Given the description of an element on the screen output the (x, y) to click on. 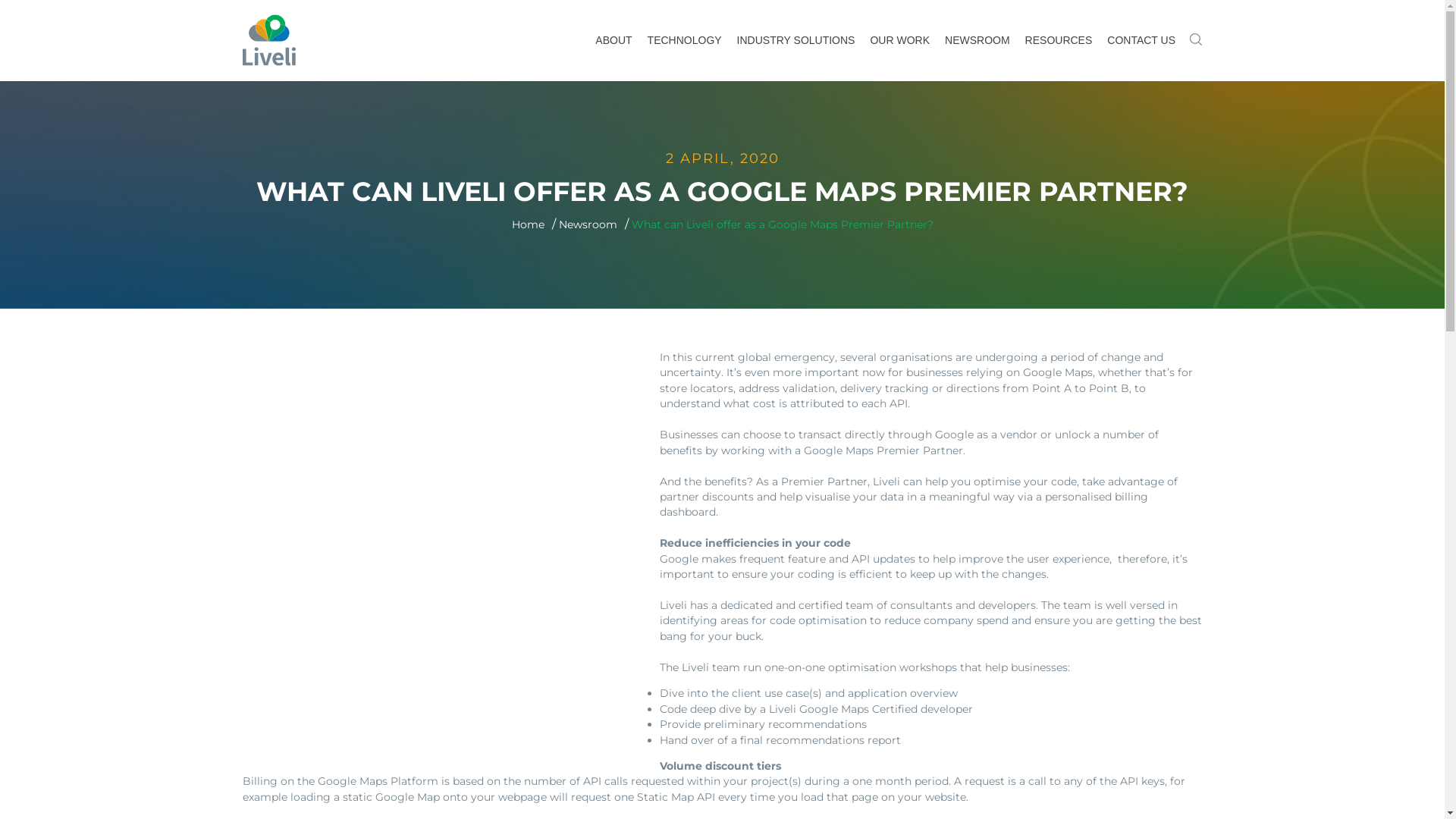
ABOUT Element type: text (613, 40)
Home Element type: text (527, 224)
NEWSROOM Element type: text (977, 40)
Newsroom Element type: text (587, 224)
TECHNOLOGY Element type: text (684, 40)
OUR WORK Element type: text (899, 40)
CONTACT US Element type: text (1141, 40)
INDUSTRY SOLUTIONS Element type: text (795, 40)
Search Element type: text (611, 9)
RESOURCES Element type: text (1058, 40)
